Given the description of an element on the screen output the (x, y) to click on. 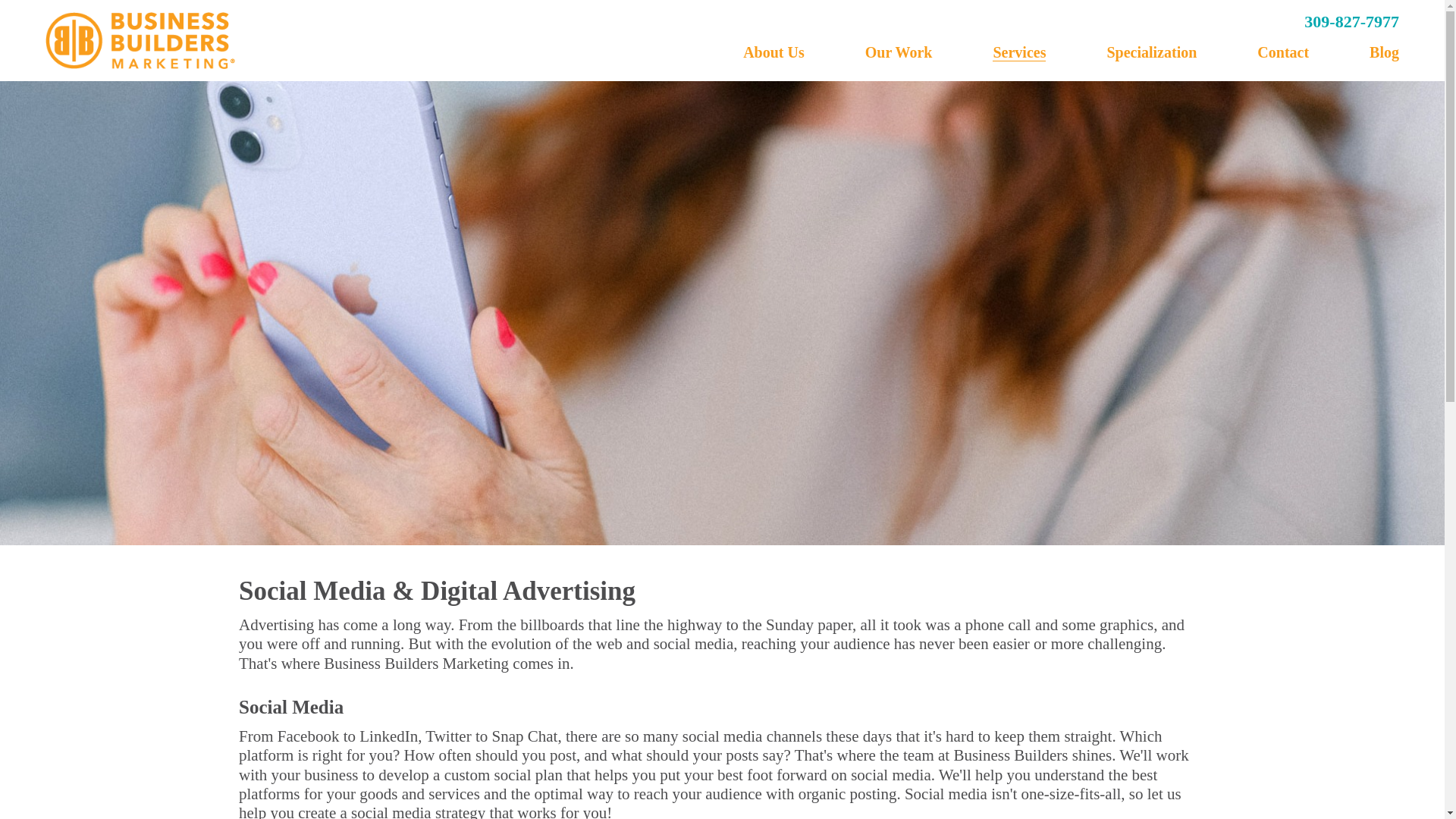
Services (1018, 52)
About Us (773, 52)
Specialization (1151, 52)
Our Work (898, 52)
309-827-7977 (1351, 21)
